Given the description of an element on the screen output the (x, y) to click on. 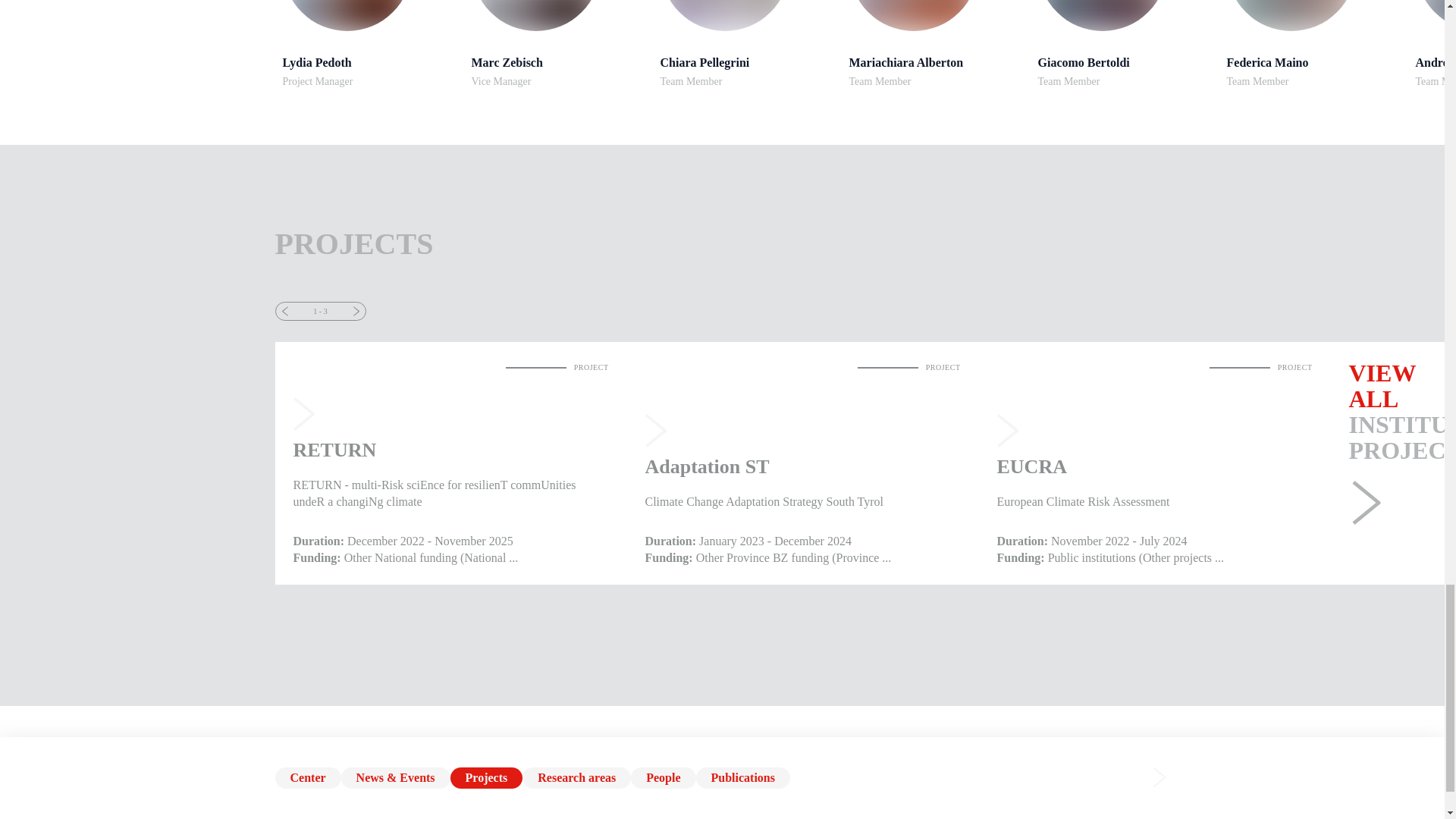
Chiara Pellegrini (1123, 43)
Giacomo Bertoldi (745, 43)
Mariachiara Alberton (1101, 15)
Lydia Pedoth (935, 43)
Marc Zebisch (935, 43)
Giacomo Bertoldi (368, 43)
Chiara Pellegrini (558, 43)
